Given the description of an element on the screen output the (x, y) to click on. 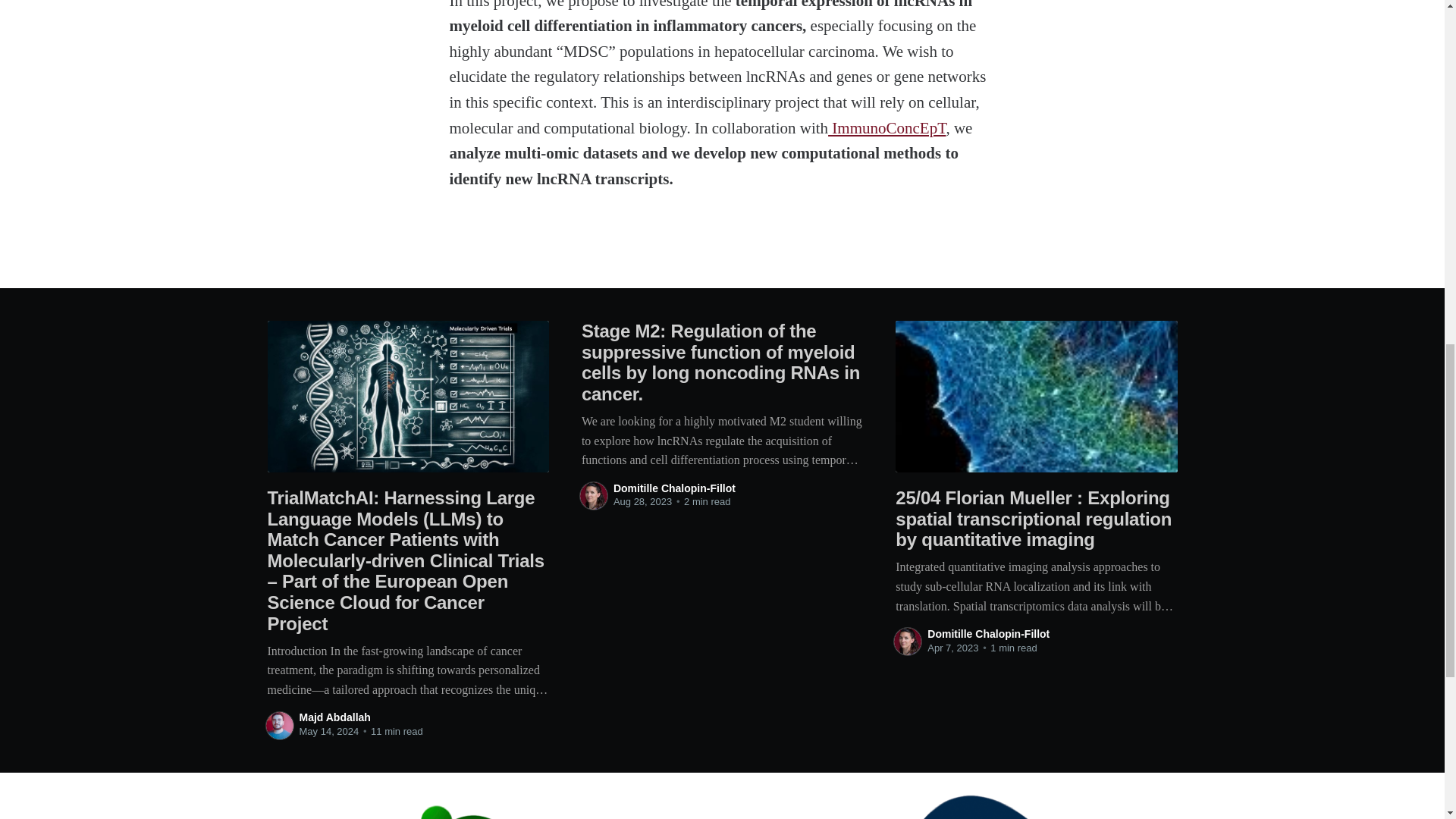
Domitille Chalopin-Fillot (988, 633)
ImmunoConcEpT (886, 127)
Domitille Chalopin-Fillot (673, 488)
Majd Abdallah (333, 717)
